Given the description of an element on the screen output the (x, y) to click on. 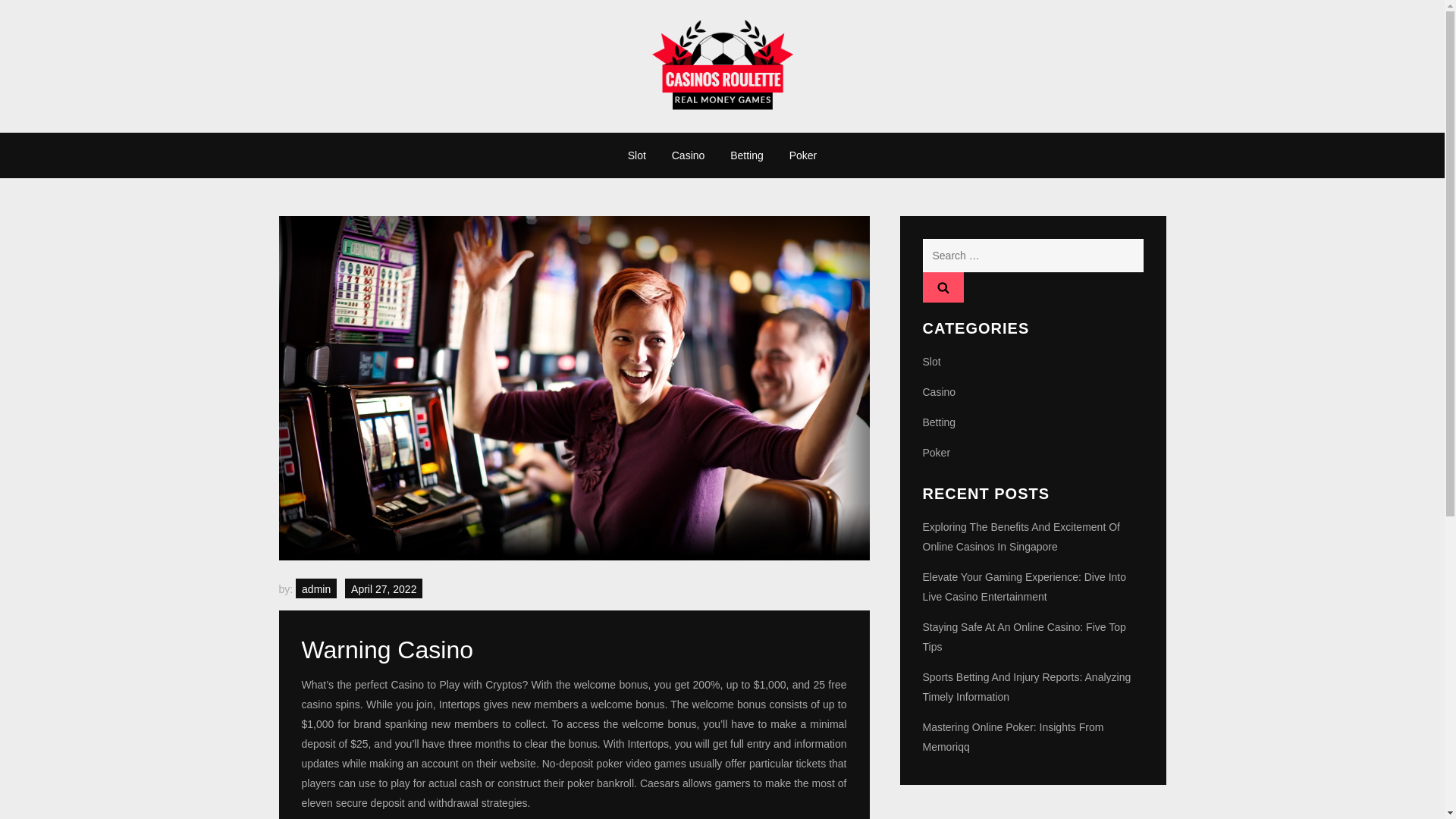
Betting (938, 422)
Search (941, 286)
admin (315, 588)
Slot (636, 155)
Slot (930, 361)
Mastering Online Poker: Insights From Memoriqq (1031, 736)
Casinos Roulette (371, 126)
April 27, 2022 (383, 588)
Casino (938, 392)
Betting (746, 155)
Poker (935, 452)
Poker (802, 155)
Staying Safe At An Online Casino: Five Top Tips (1031, 636)
